Given the description of an element on the screen output the (x, y) to click on. 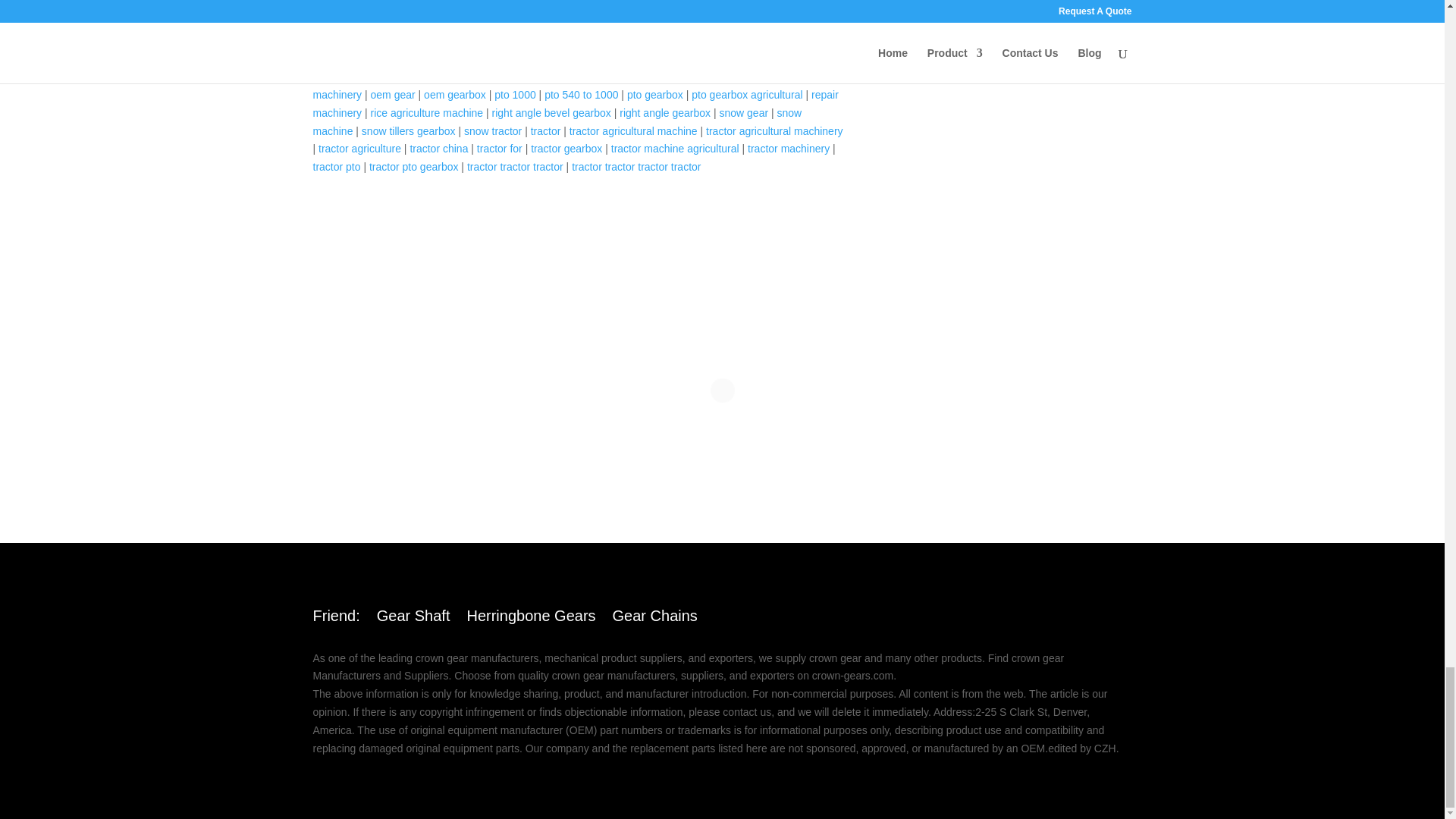
gear bevel (459, 5)
gear (417, 5)
for agricultural tractor (572, 5)
